Given the description of an element on the screen output the (x, y) to click on. 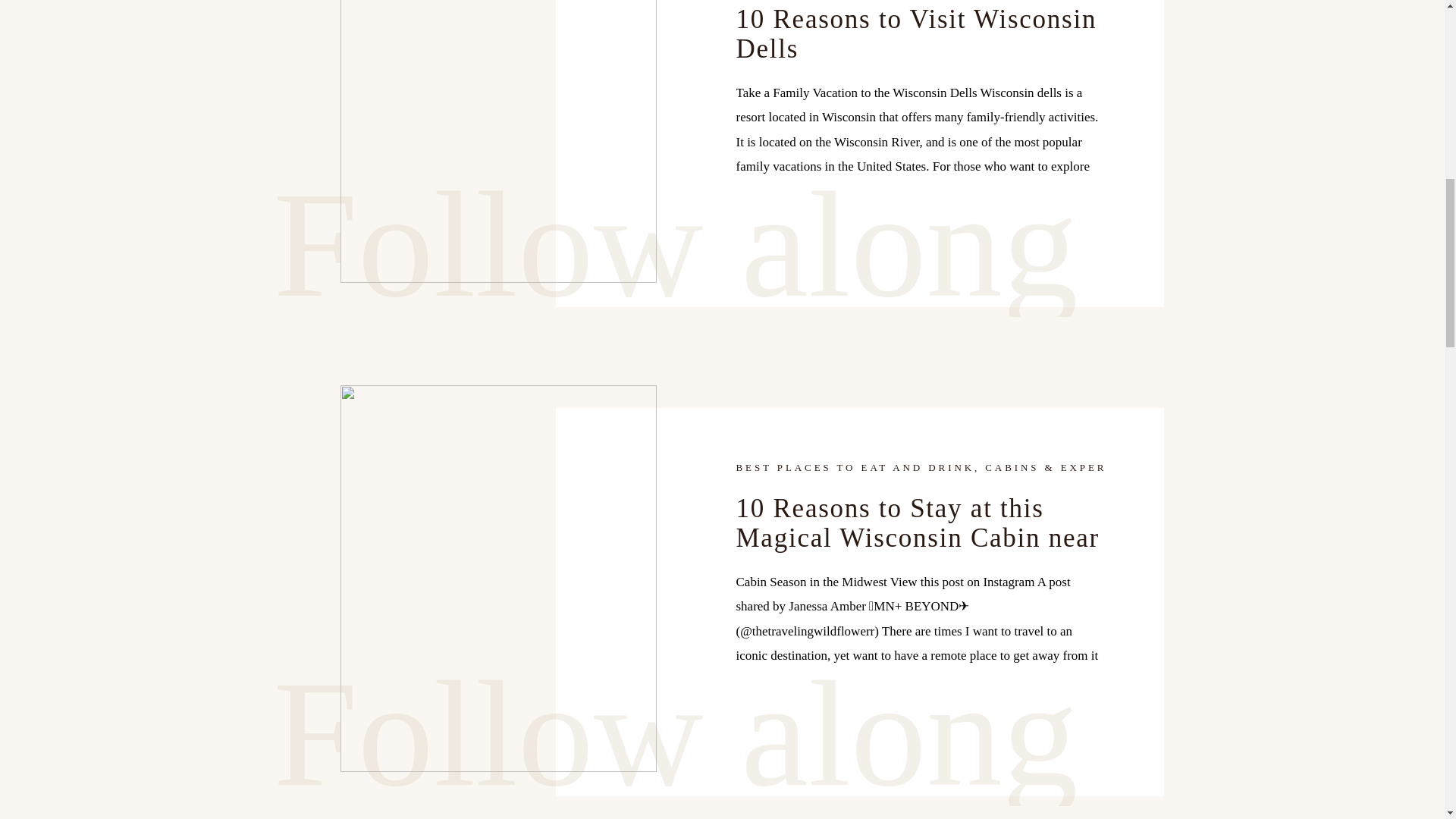
10 Reasons to Visit Wisconsin Dells (497, 141)
